Given the description of an element on the screen output the (x, y) to click on. 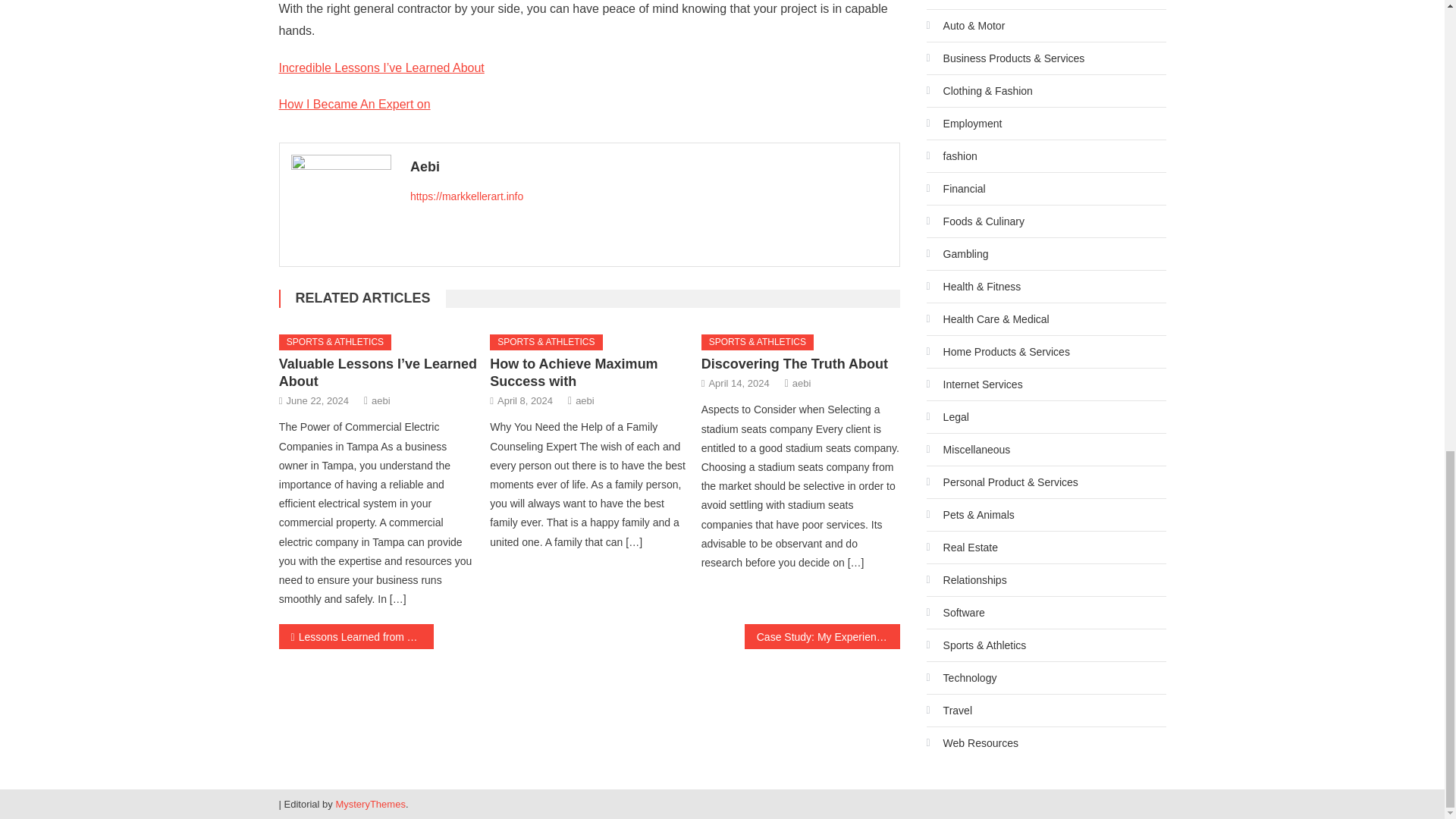
Aebi (649, 166)
Lessons Learned from Years with (356, 636)
April 14, 2024 (737, 383)
aebi (801, 383)
How to Achieve Maximum Success with (573, 372)
aebi (380, 400)
aebi (584, 400)
Discovering The Truth About (794, 363)
Case Study: My Experience With (821, 636)
April 8, 2024 (525, 400)
